Given the description of an element on the screen output the (x, y) to click on. 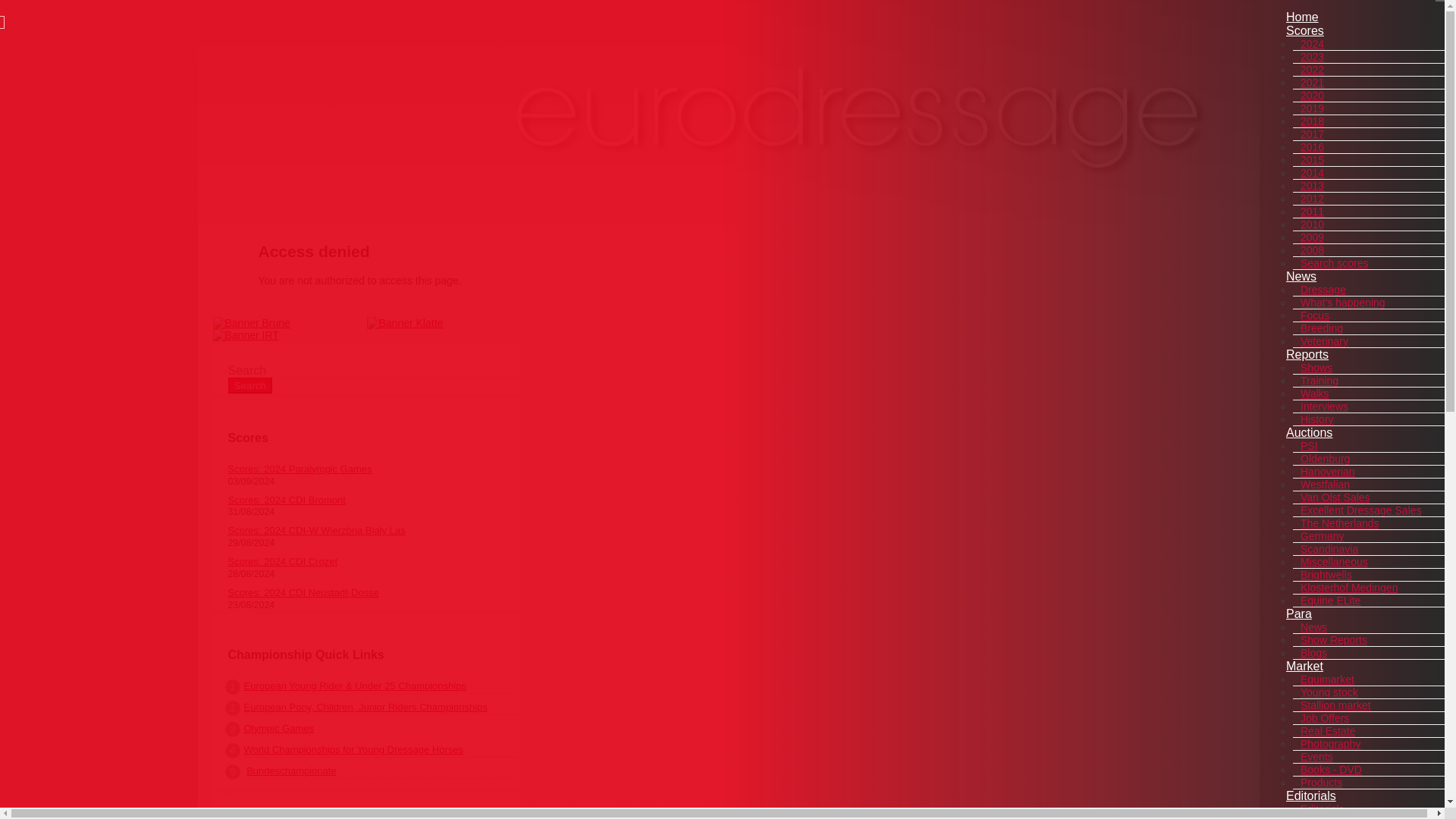
2010 (1312, 224)
2012 (1312, 198)
Enter the terms you wish to search for. (373, 370)
Reports (1307, 354)
2021 (1312, 82)
Breeding (1321, 328)
History (1316, 419)
Home (1301, 16)
Search scores (1333, 262)
